Given the description of an element on the screen output the (x, y) to click on. 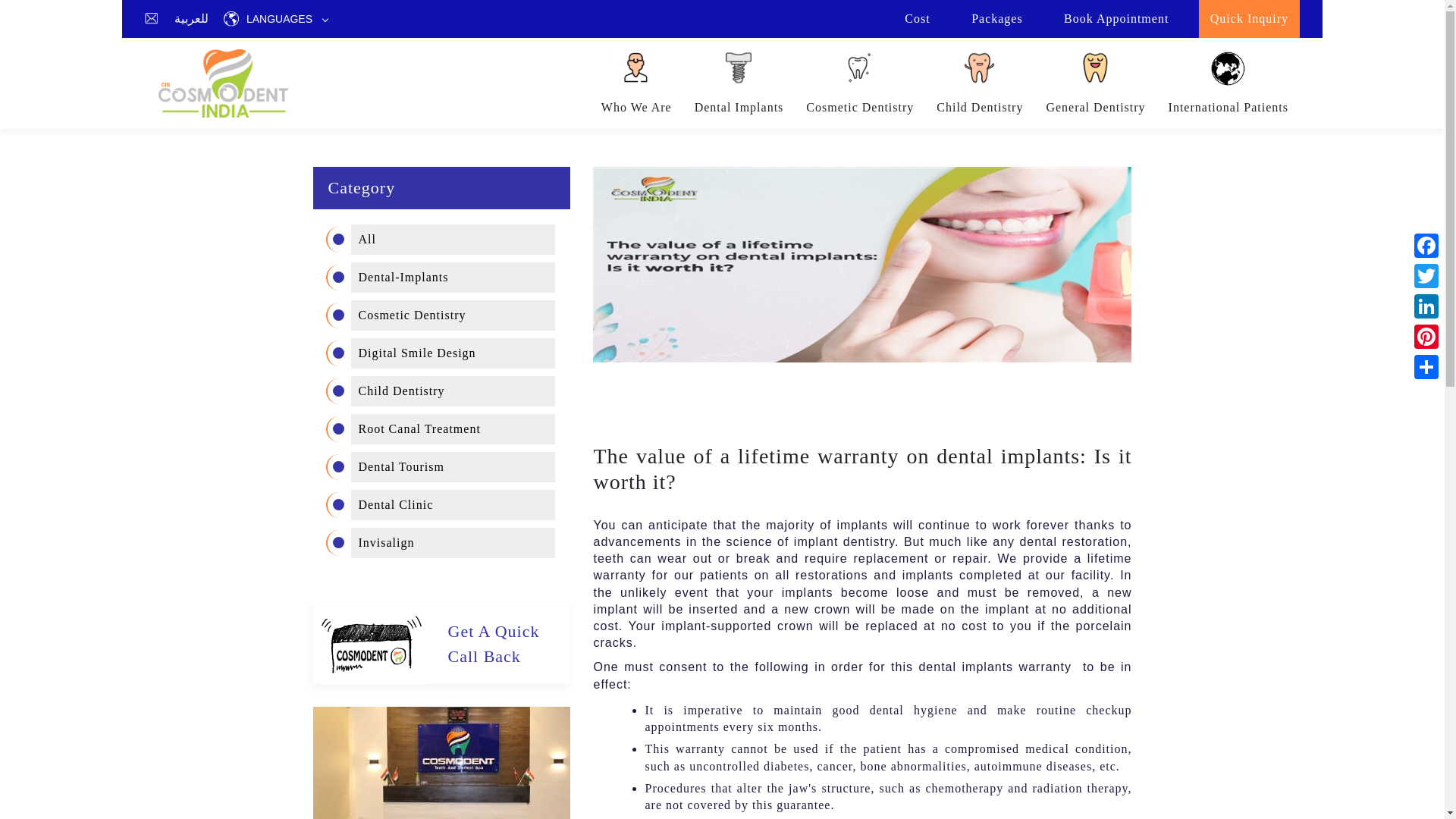
Cosmetic Dentistry (870, 78)
Who We Are (635, 82)
Child Dentistry (989, 78)
International Patients (1238, 78)
Dental Implants (738, 82)
Packages (996, 19)
Dental Implants (748, 78)
General Dentistry (1106, 78)
Quick Inquiry (1249, 19)
Cost (916, 19)
